Given the description of an element on the screen output the (x, y) to click on. 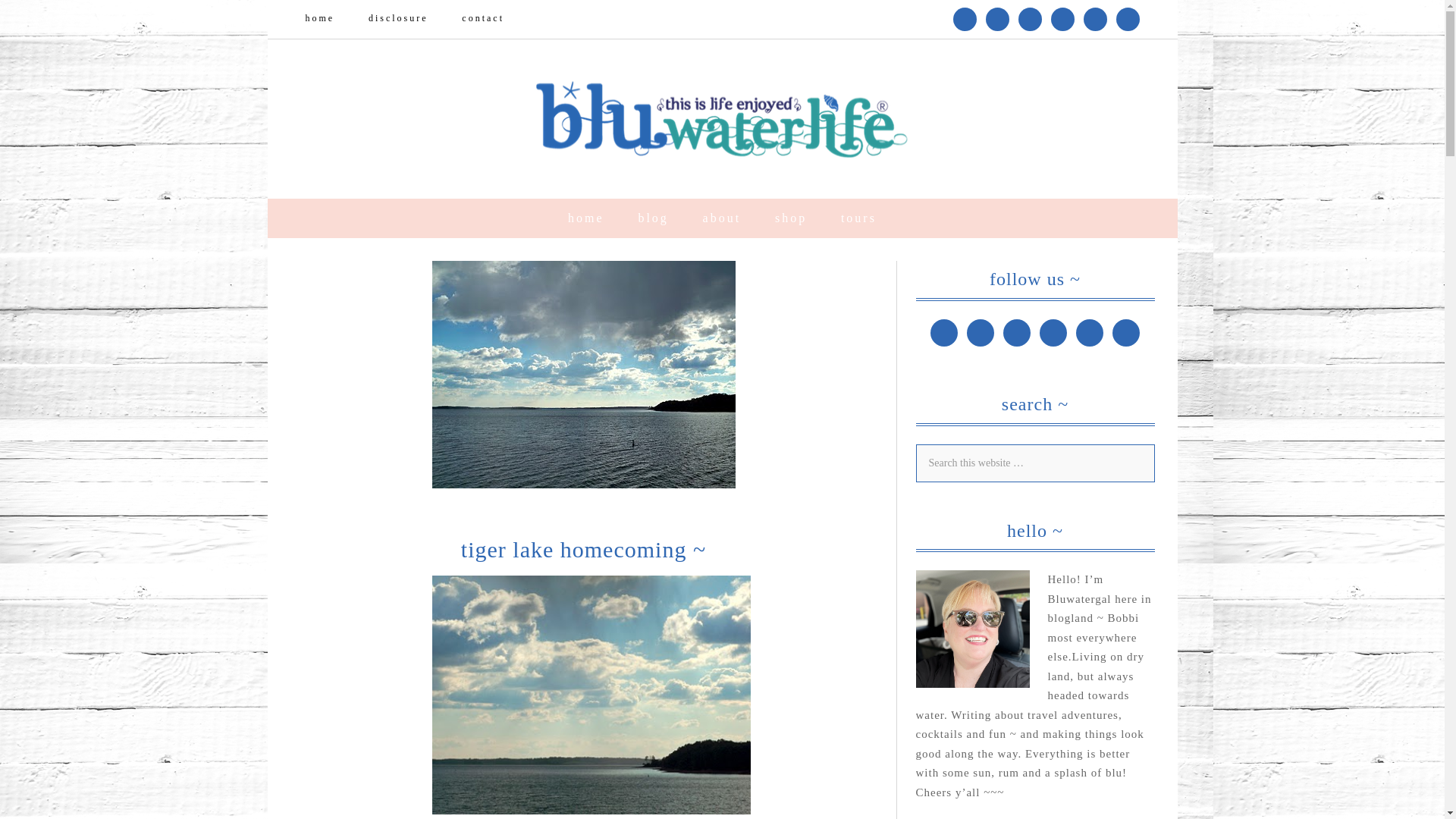
bluwaterlife (721, 119)
disclosure (398, 18)
contact (482, 18)
about (722, 218)
home (319, 18)
home (586, 218)
blog (652, 218)
shop (791, 218)
tours (858, 218)
